Given the description of an element on the screen output the (x, y) to click on. 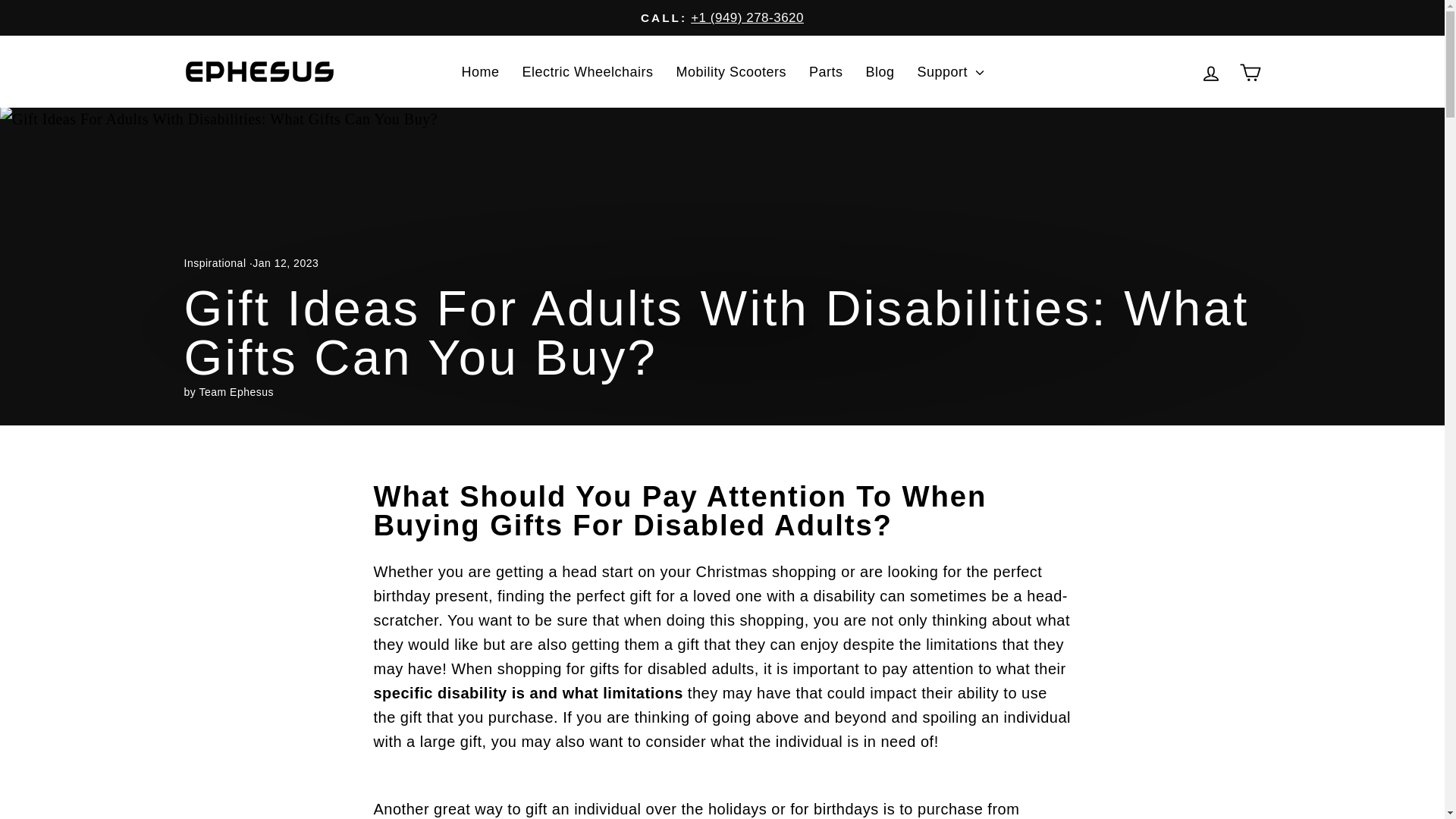
Electric Wheelchairs (587, 71)
Blog (879, 71)
account (1210, 73)
Mobility Scooters (730, 71)
Home (480, 71)
Parts (825, 71)
